Given the description of an element on the screen output the (x, y) to click on. 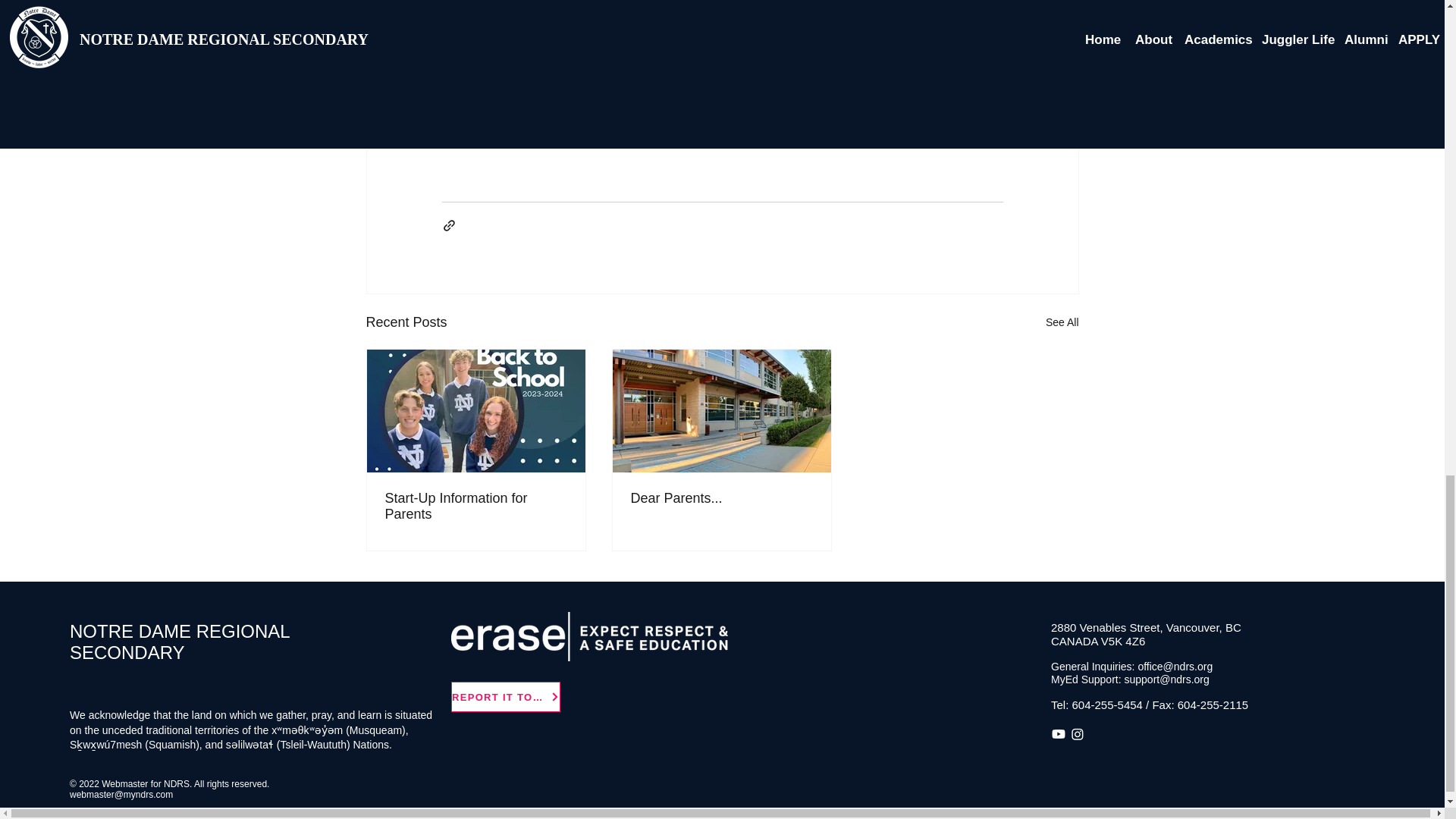
Dear Parents... (721, 498)
NOTRE DAME REGIONAL SECONDARY (179, 641)
See All (1061, 322)
Start-Up Information for Parents (476, 506)
